Given the description of an element on the screen output the (x, y) to click on. 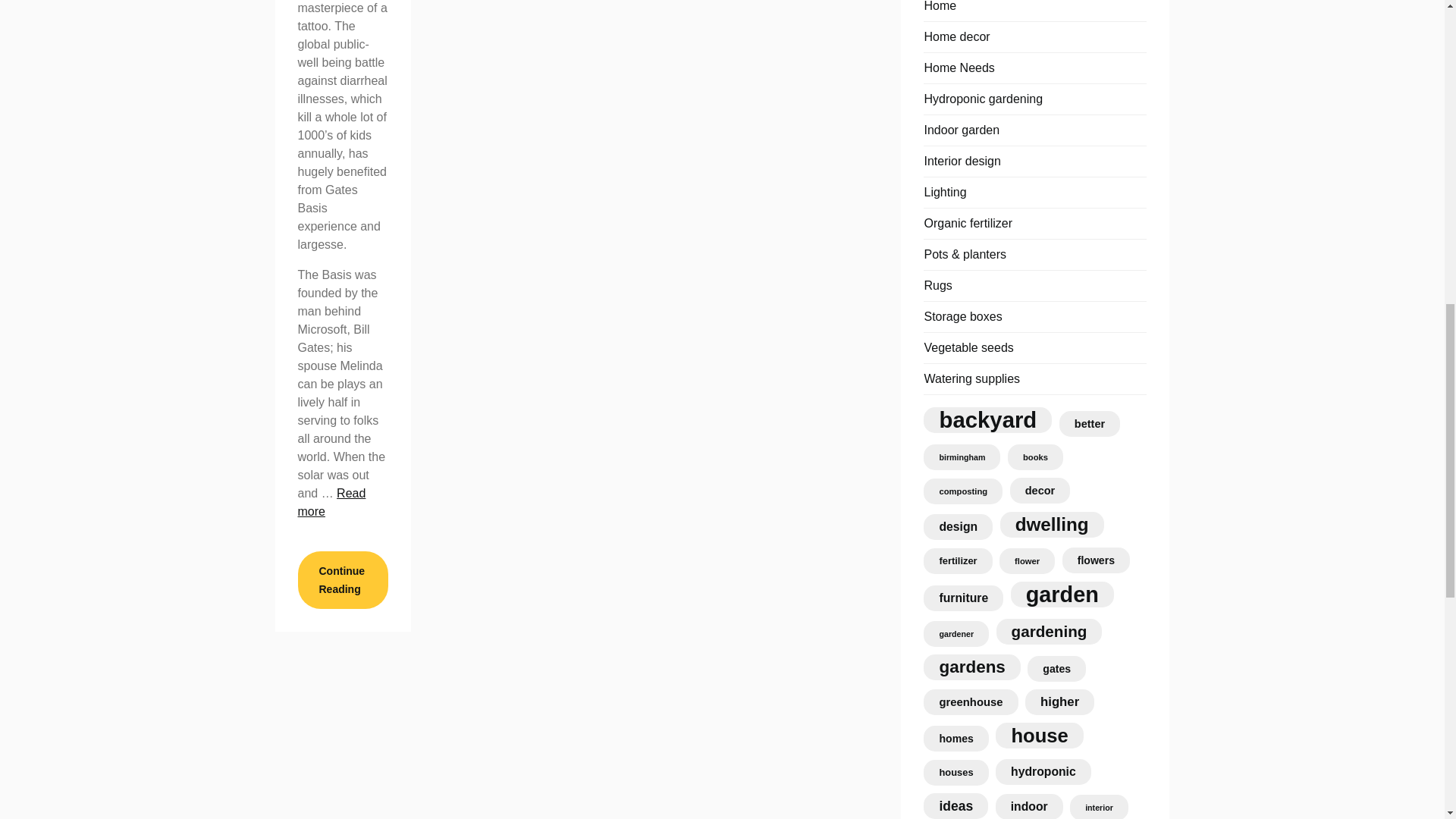
Read more (331, 501)
Continue Reading (342, 580)
